Given the description of an element on the screen output the (x, y) to click on. 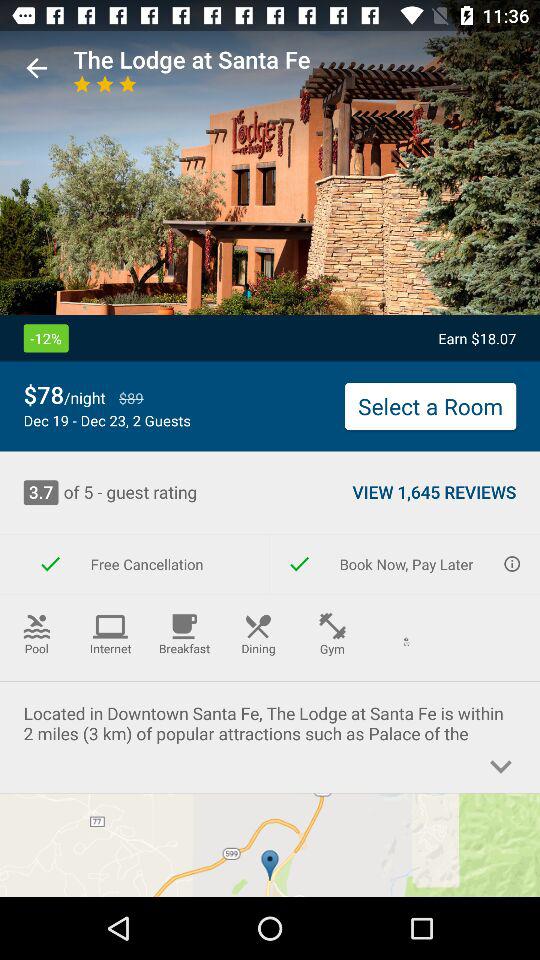
launch the icon above the -12% (36, 68)
